Given the description of an element on the screen output the (x, y) to click on. 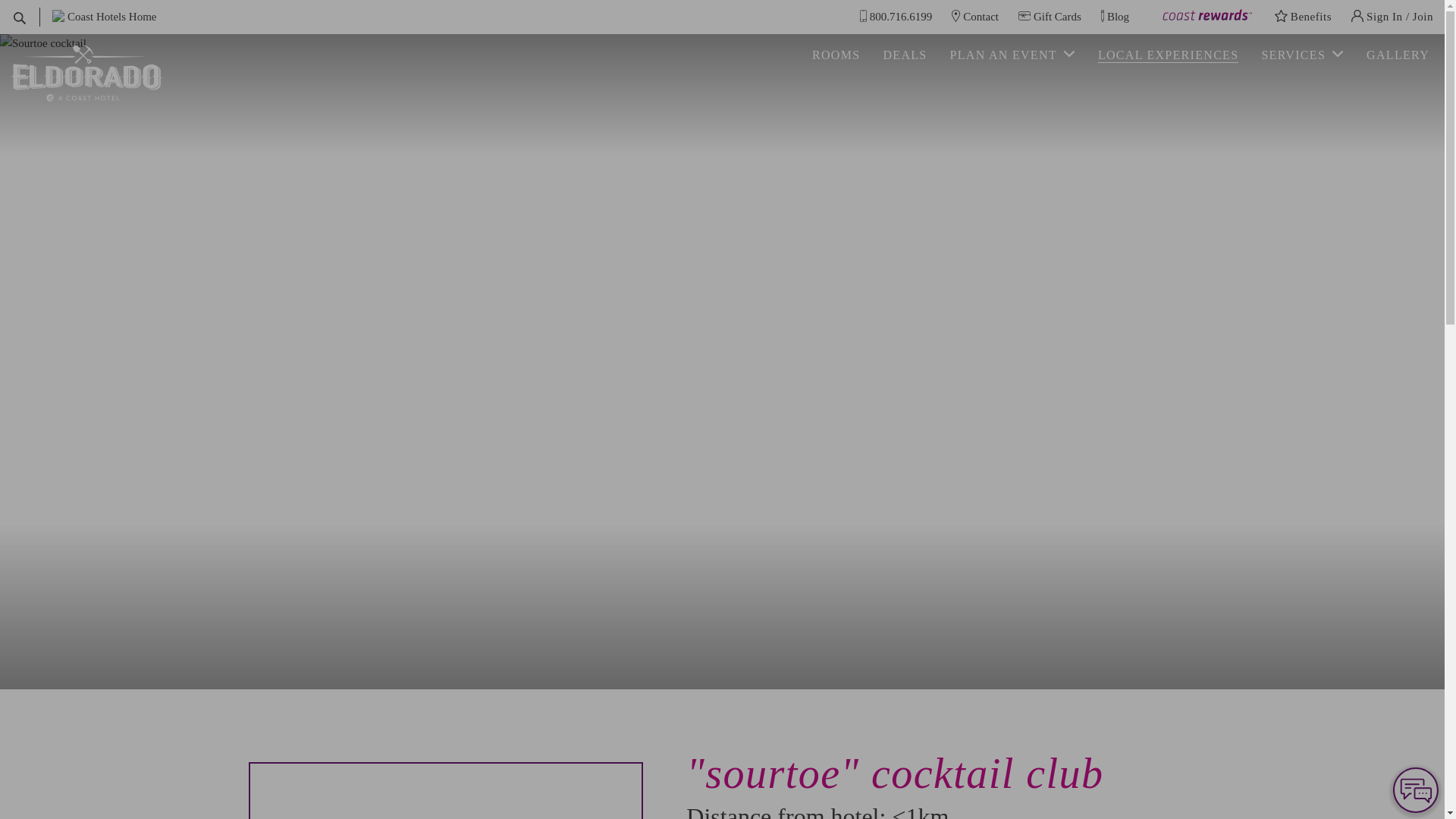
PLAN AN EVENT (1012, 55)
DEALS (903, 55)
Contact (975, 16)
Blog (1114, 16)
LOCAL EXPERIENCES (1168, 55)
GALLERY (1398, 55)
Coast Hotels Home (104, 16)
Benefits (1303, 17)
ROOMS (835, 55)
800.716.6199 (896, 16)
